Given the description of an element on the screen output the (x, y) to click on. 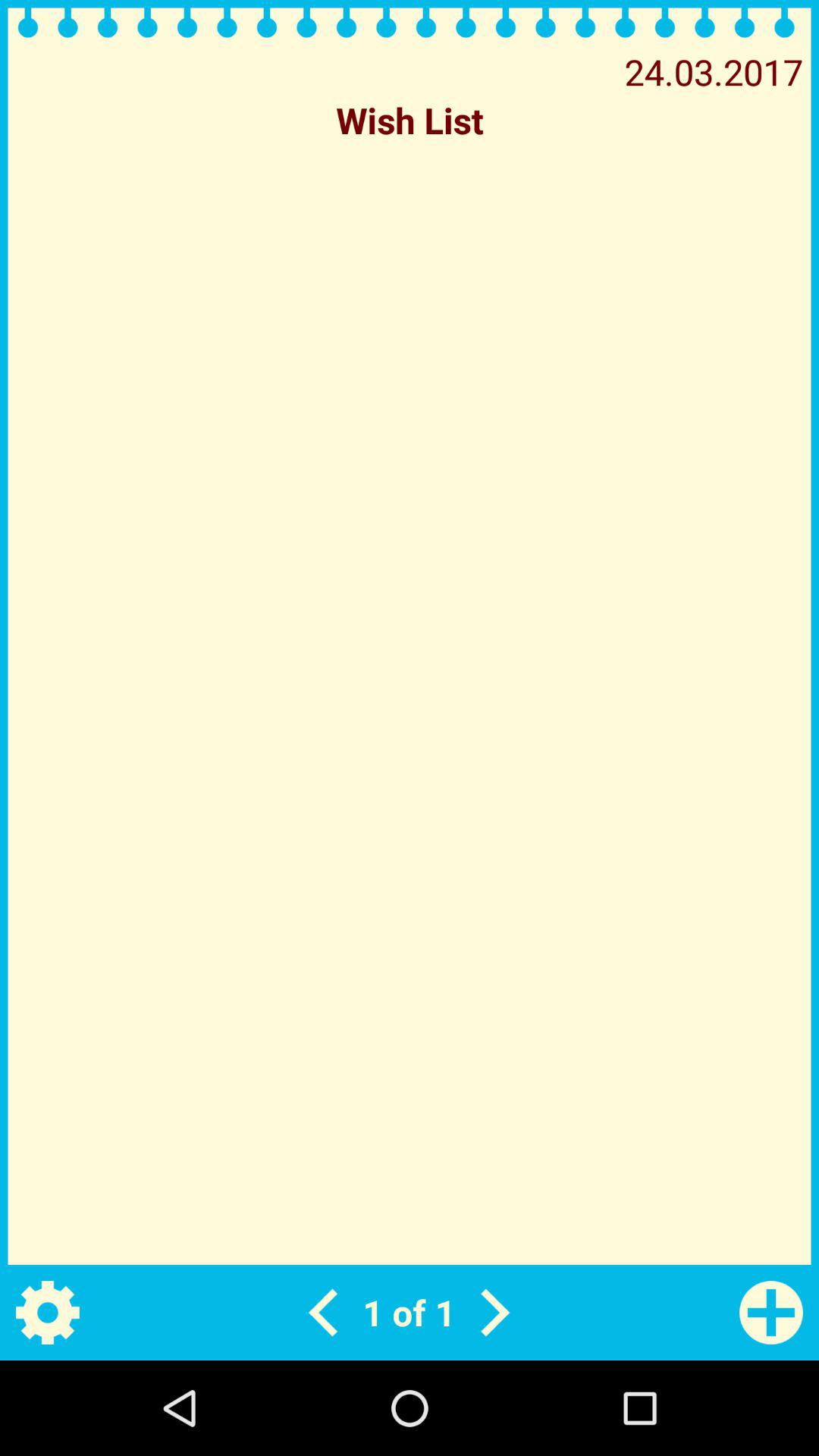
select the icon below the 24.03.2017 (409, 120)
